Given the description of an element on the screen output the (x, y) to click on. 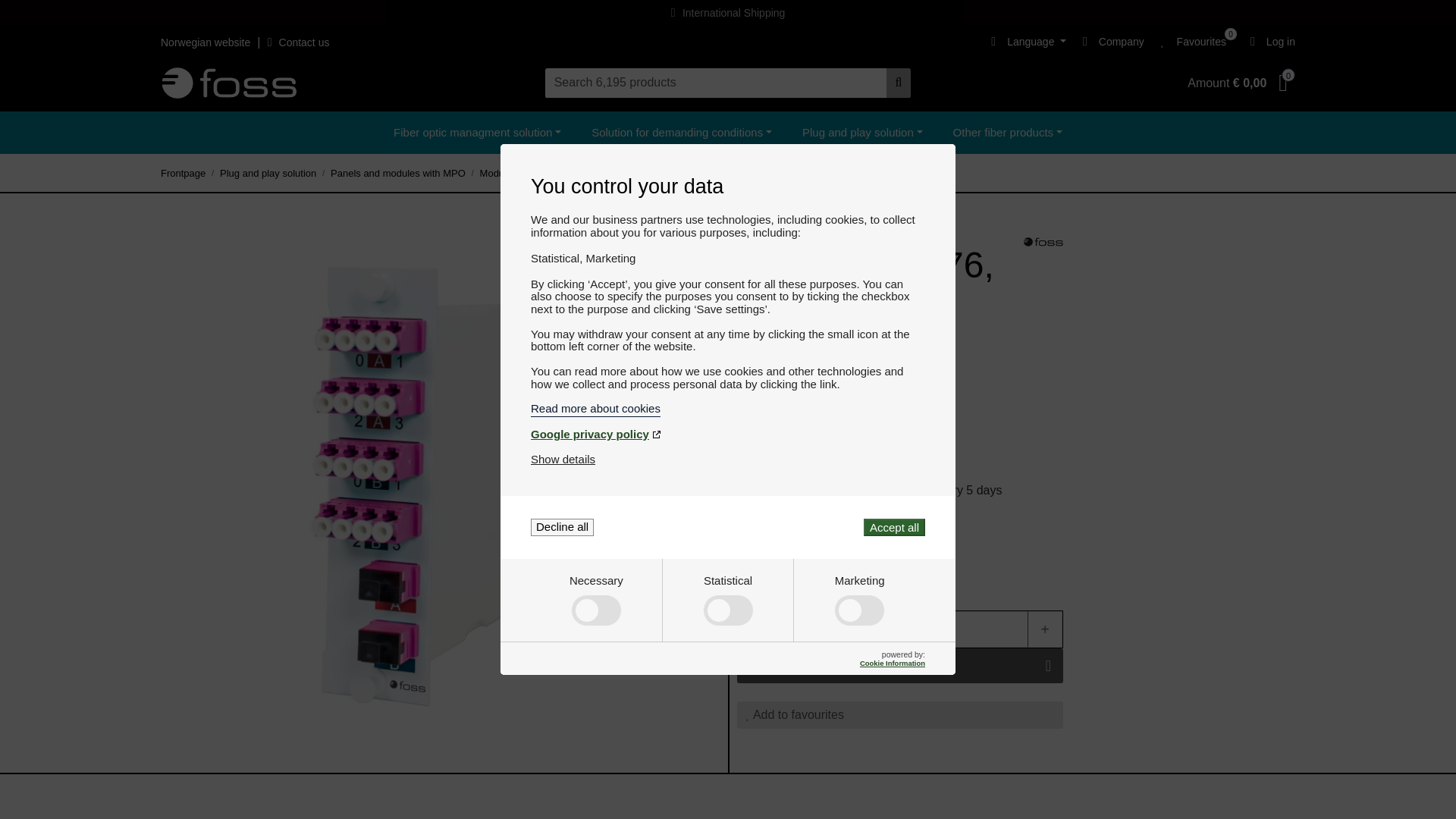
Decline all (562, 527)
1 (898, 628)
Read more about cookies (727, 408)
Show details (563, 459)
Google privacy policy (727, 433)
Cookie Information (892, 663)
Accept all (893, 527)
